Given the description of an element on the screen output the (x, y) to click on. 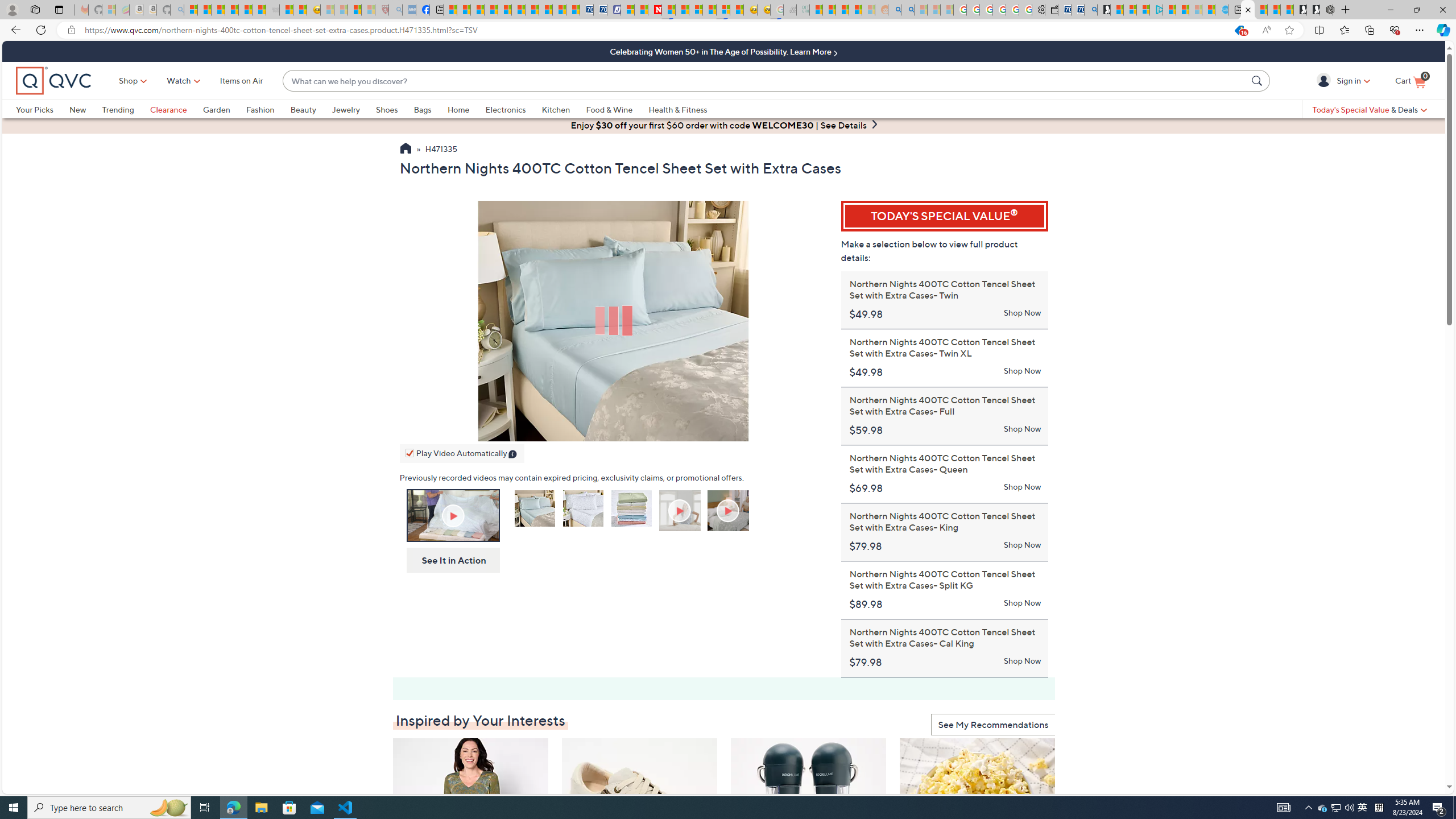
Jewelry (345, 109)
Fashion (268, 109)
Trending (117, 109)
Total Look (729, 511)
Class: infoIcon (513, 454)
